Given the description of an element on the screen output the (x, y) to click on. 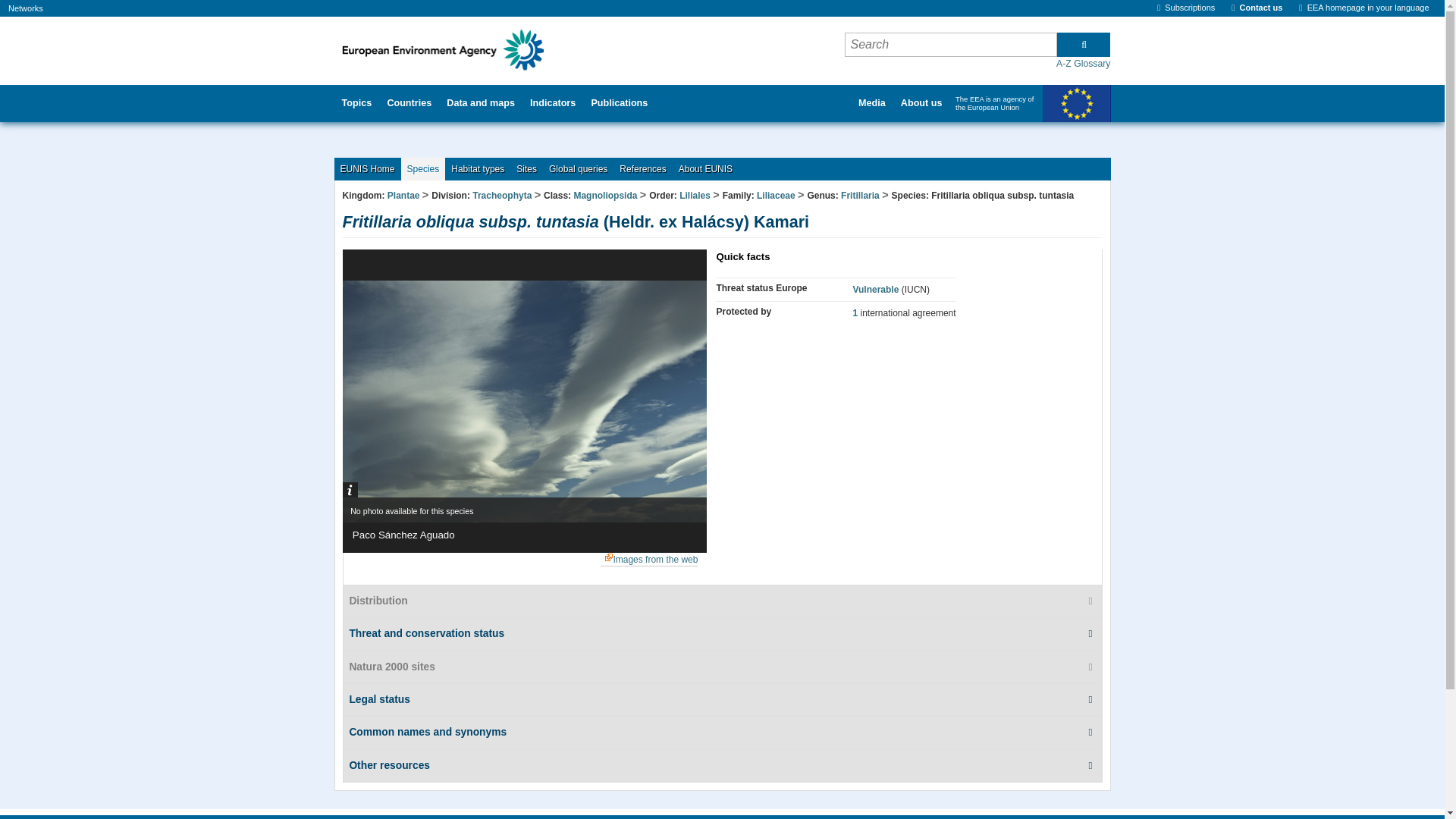
EEA homepage in your language (1363, 7)
Contact us (1256, 7)
Networks (25, 8)
Subscriptions (1185, 7)
Contact us (1256, 7)
EEA homepage in your language (1363, 7)
Subscriptions (1185, 7)
